Given the description of an element on the screen output the (x, y) to click on. 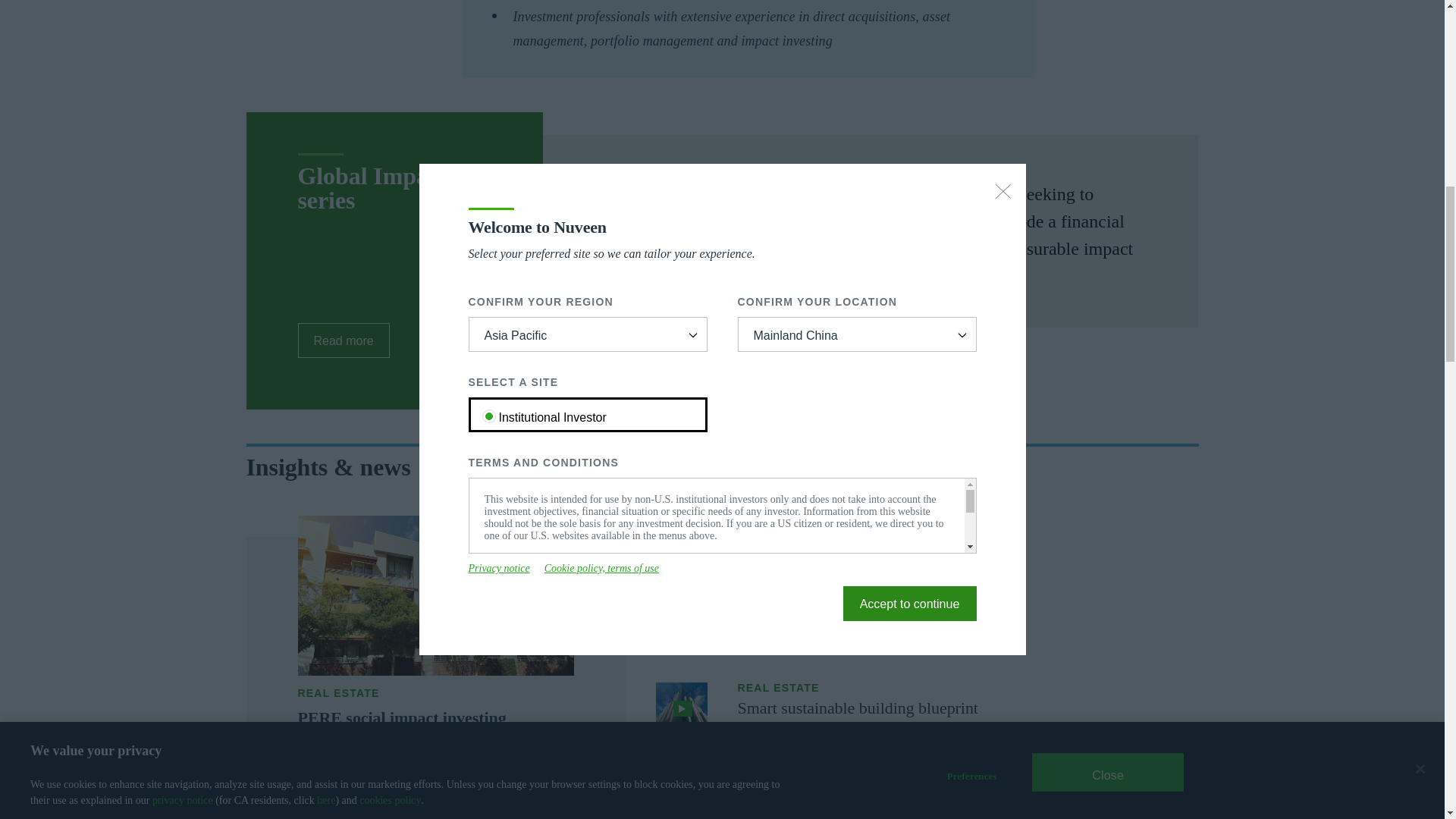
Read more (342, 339)
